Given the description of an element on the screen output the (x, y) to click on. 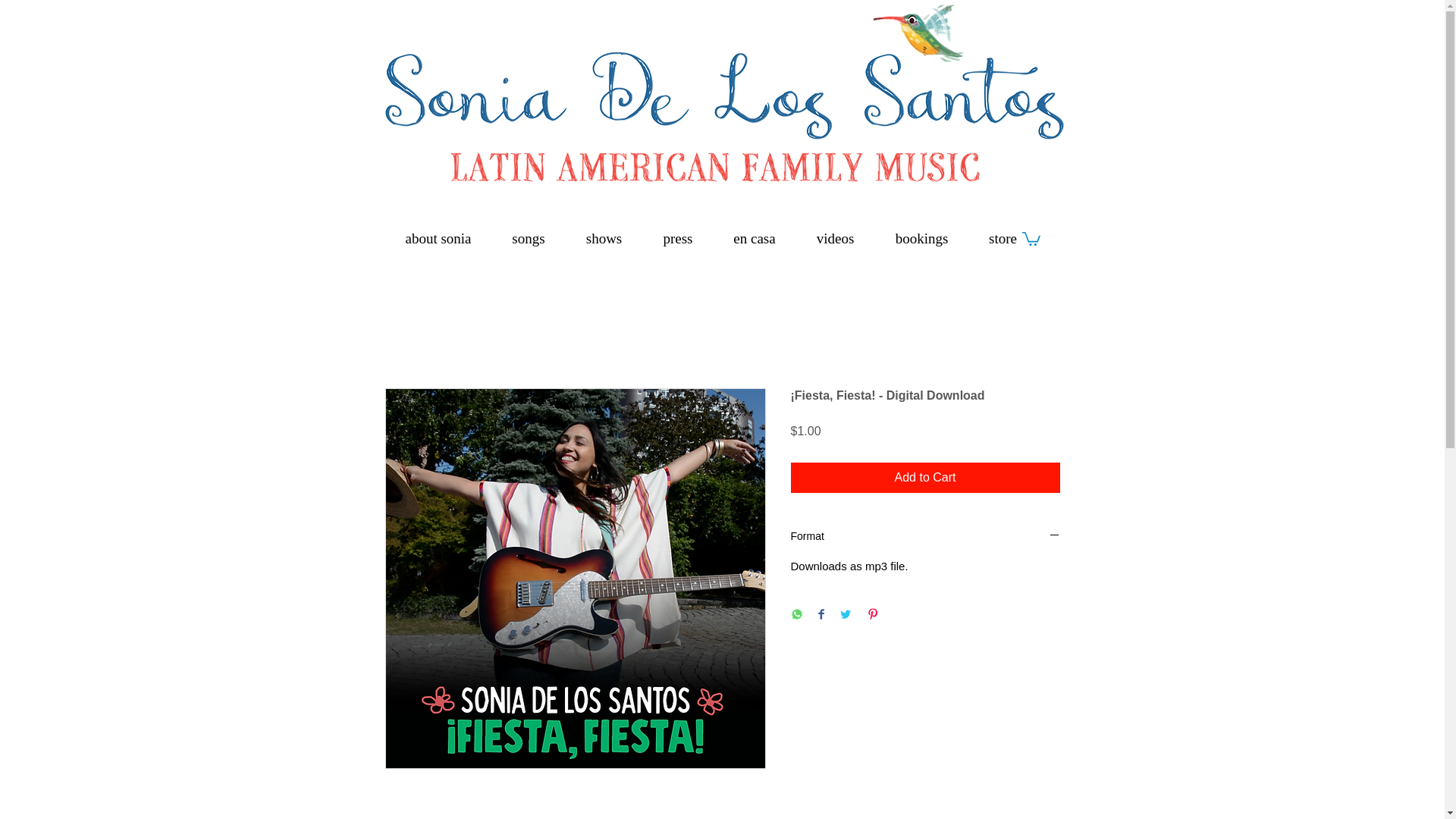
Add to Cart (924, 477)
en casa (753, 238)
press (678, 238)
videos (835, 238)
about sonia (438, 238)
songs (528, 238)
shows (604, 238)
bookings (922, 238)
store (1002, 238)
Format (924, 537)
